Given the description of an element on the screen output the (x, y) to click on. 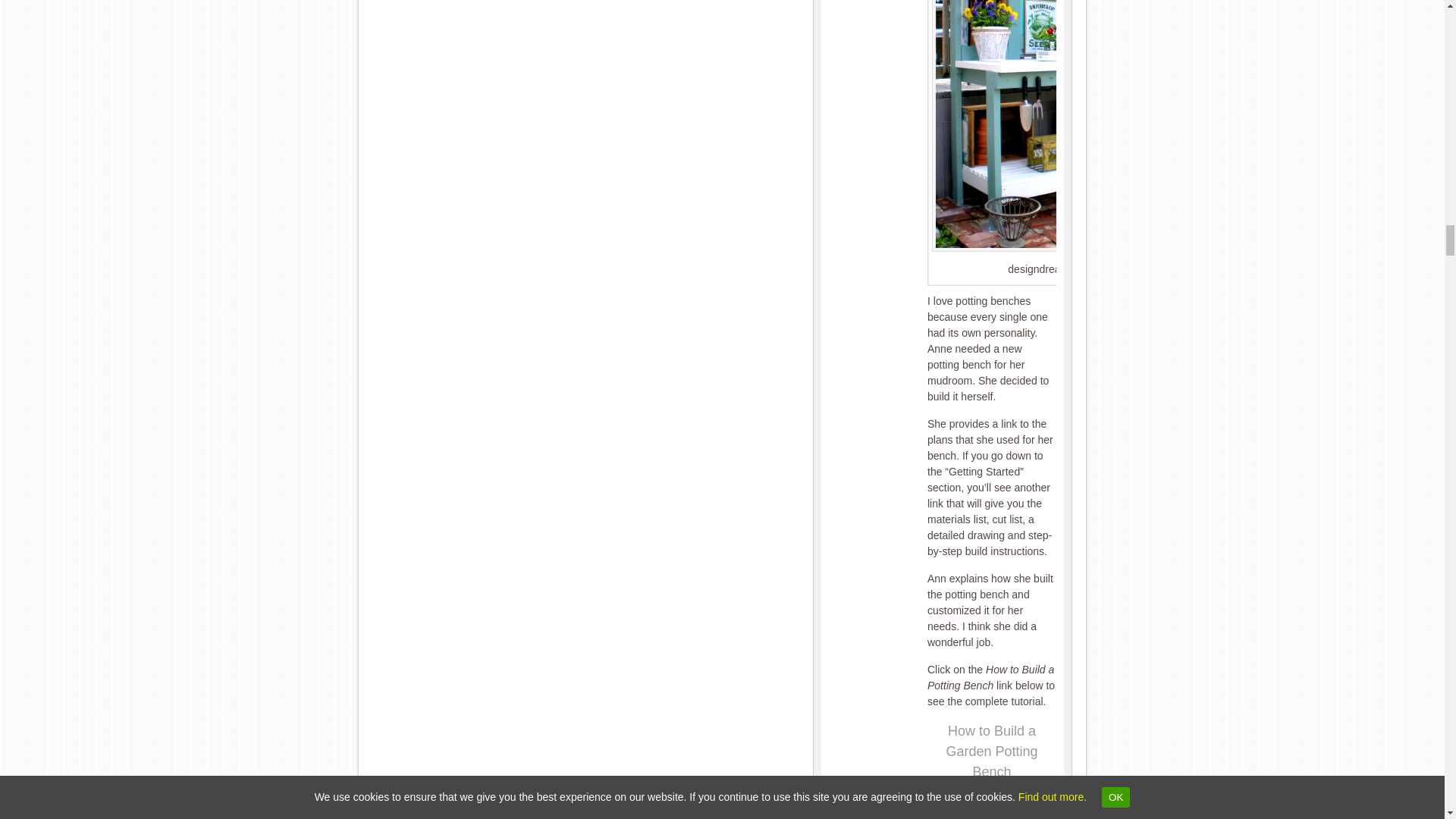
How to Build a Garden Potting Bench (990, 751)
Smart Self-Watering Devices for Plants (988, 811)
